Given the description of an element on the screen output the (x, y) to click on. 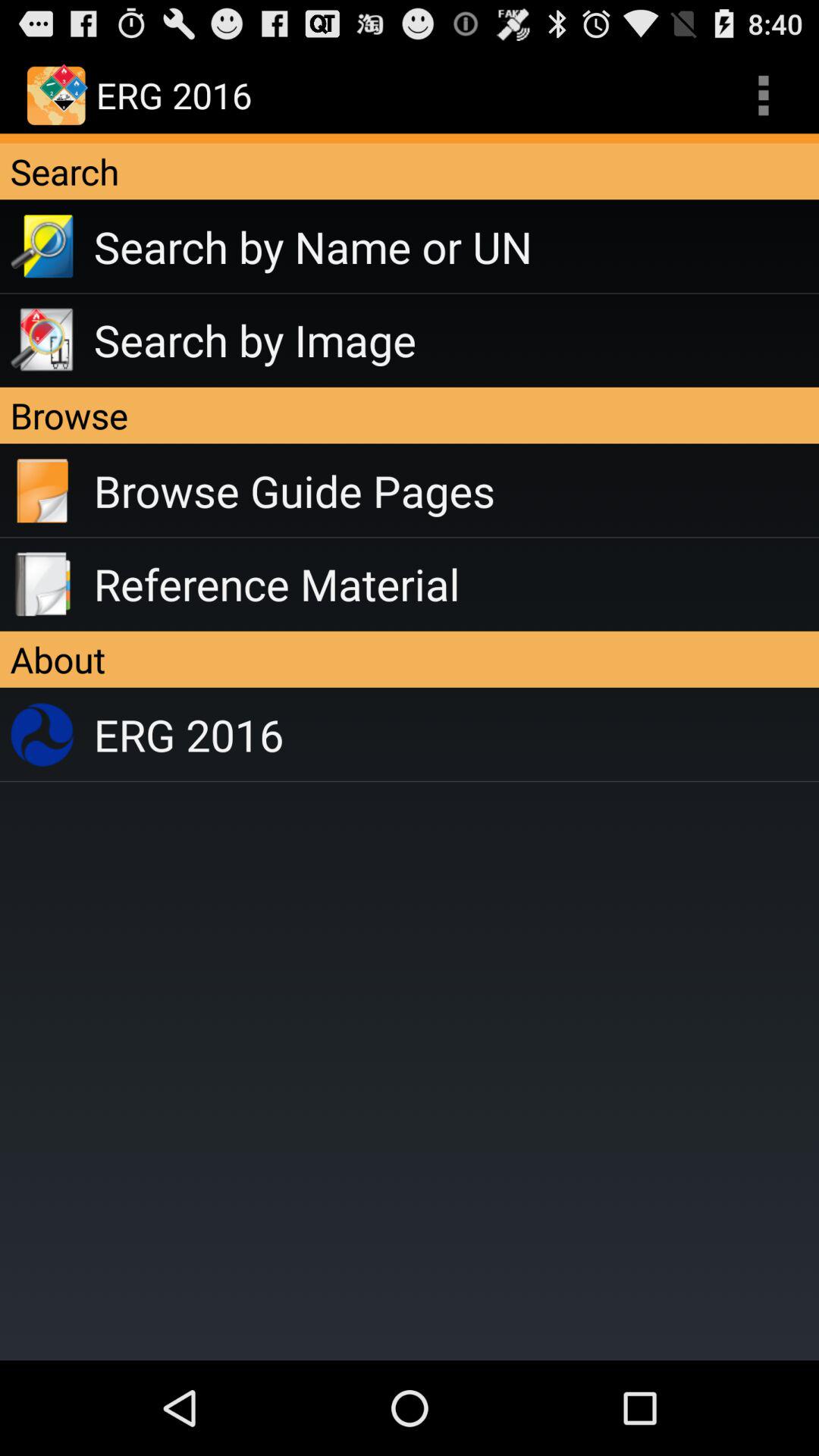
choose the item below the browse item (456, 490)
